Given the description of an element on the screen output the (x, y) to click on. 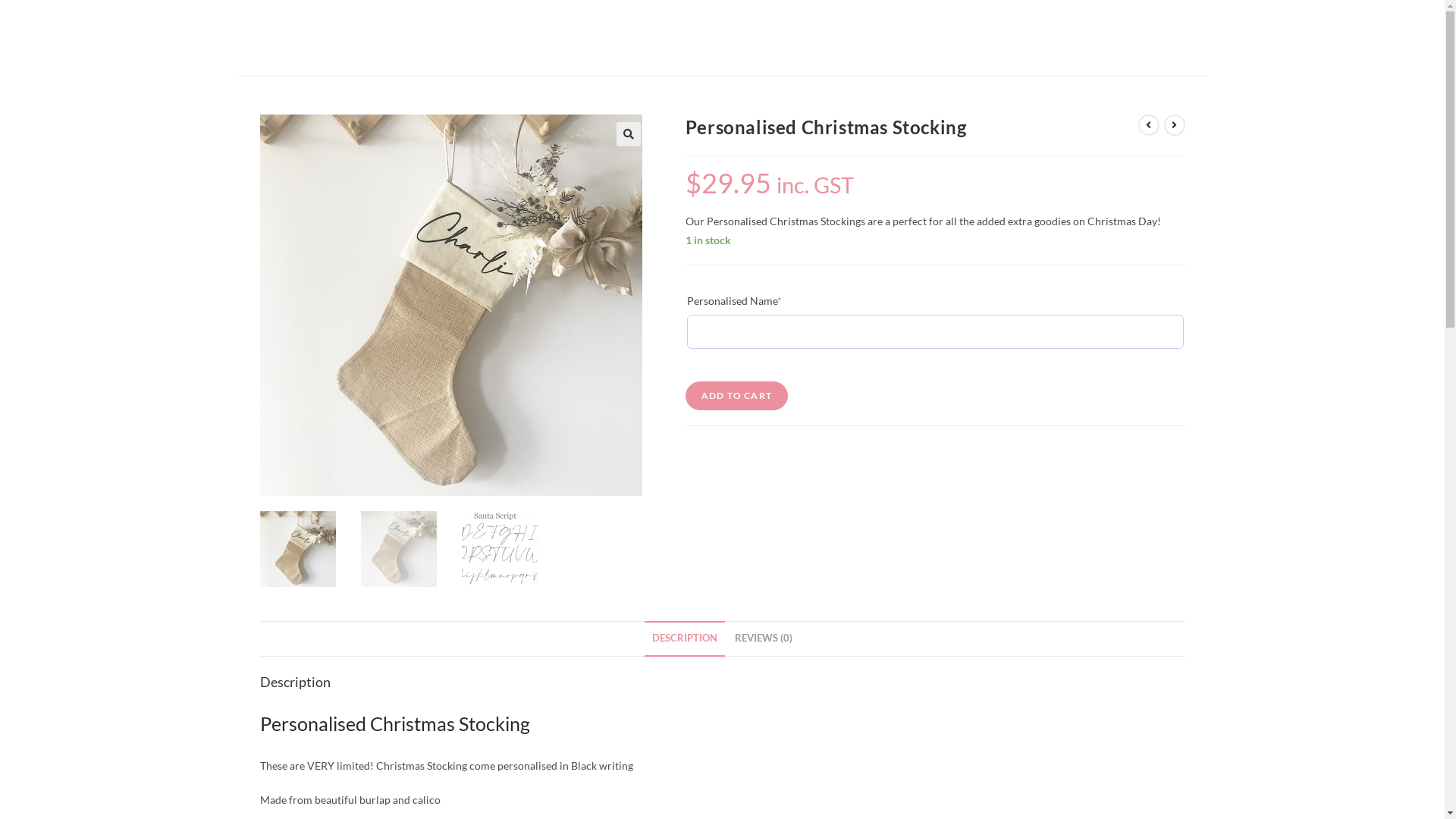
DESCRIPTION Element type: text (684, 638)
5135 Element type: text (1104, 24)
REVIEWS (0) Element type: text (763, 638)
ADD TO CART Element type: text (736, 395)
Personalised Christmas Stocking Element type: hover (450, 304)
